Given the description of an element on the screen output the (x, y) to click on. 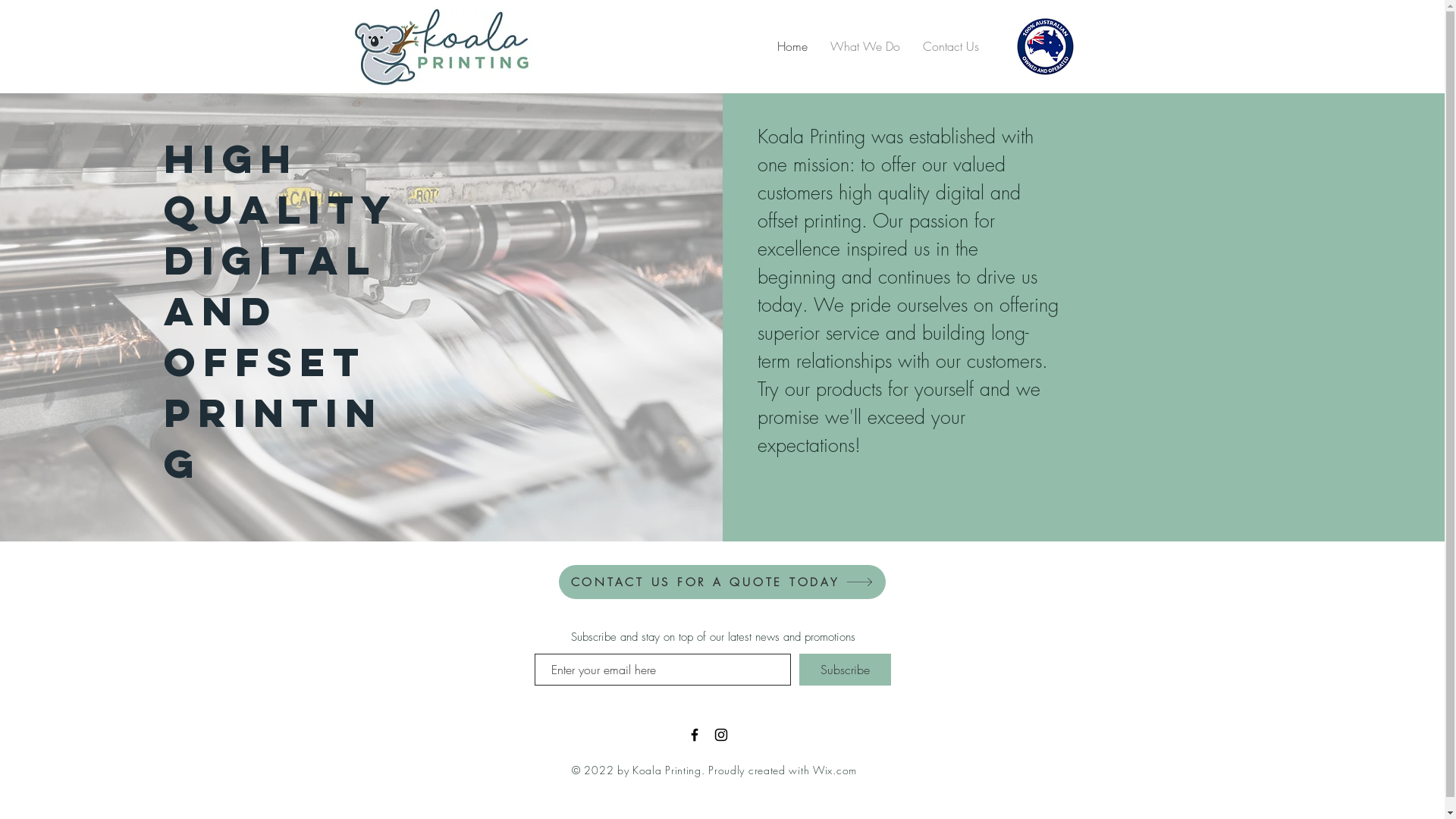
Subscribe Element type: text (845, 669)
Contact Us Element type: text (950, 46)
Home Element type: text (792, 46)
CONTACT US FOR A QUOTE TODAY Element type: text (721, 581)
What We Do Element type: text (865, 46)
Wix.com Element type: text (834, 769)
